Given the description of an element on the screen output the (x, y) to click on. 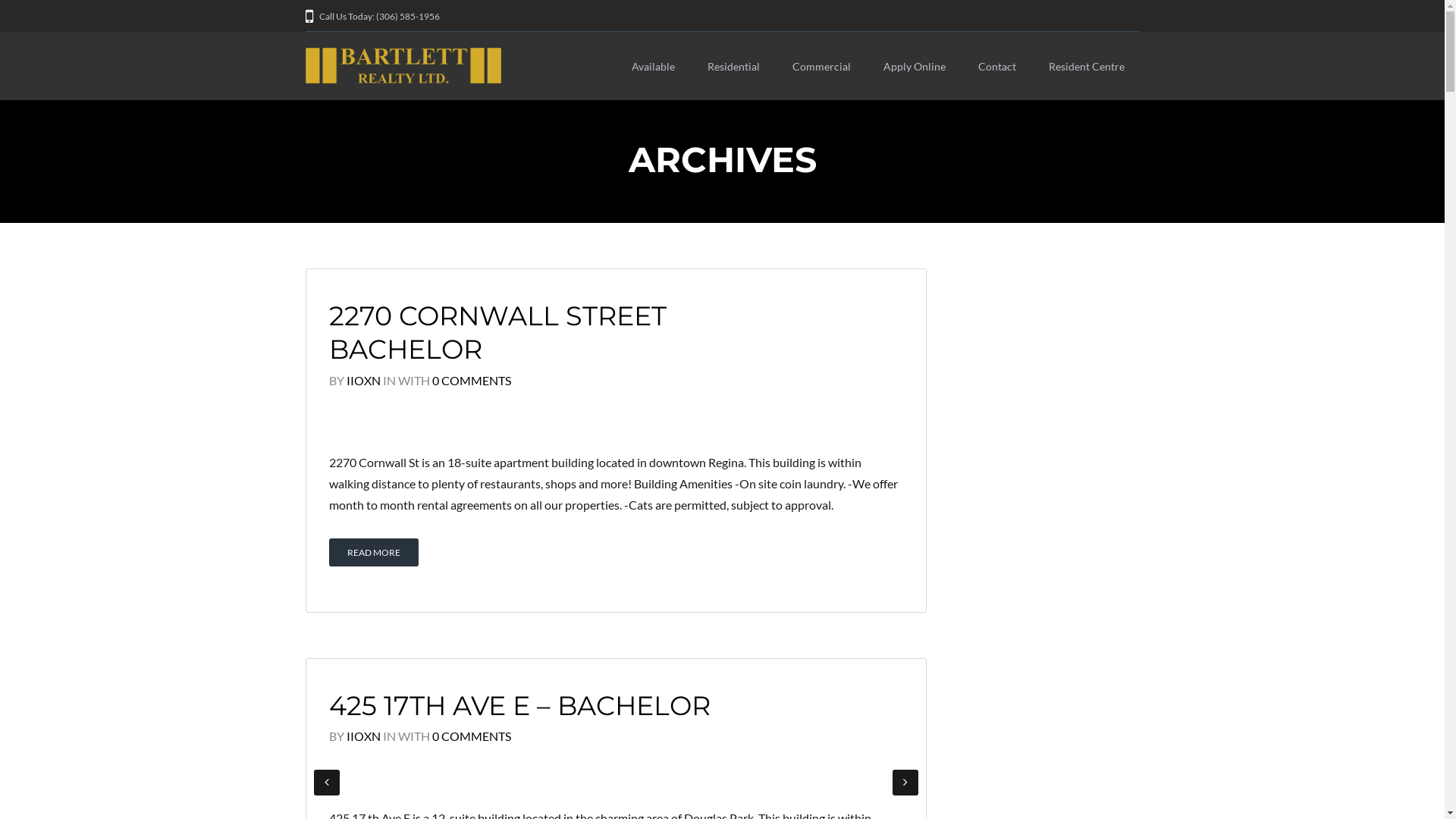
0 COMMENTS Element type: text (471, 380)
Apply Online Element type: text (913, 57)
IIOXN Element type: text (362, 735)
Commercial Element type: text (820, 57)
Resident Centre Element type: text (1085, 57)
IIOXN Element type: text (362, 380)
Contact Element type: text (997, 57)
0 COMMENTS Element type: text (471, 735)
Previous Element type: text (326, 782)
Residential Element type: text (732, 57)
Next Element type: text (905, 782)
READ MORE Element type: text (373, 552)
Available Element type: text (652, 57)
2270 CORNWALL STREET BACHELOR Element type: text (497, 332)
